Given the description of an element on the screen output the (x, y) to click on. 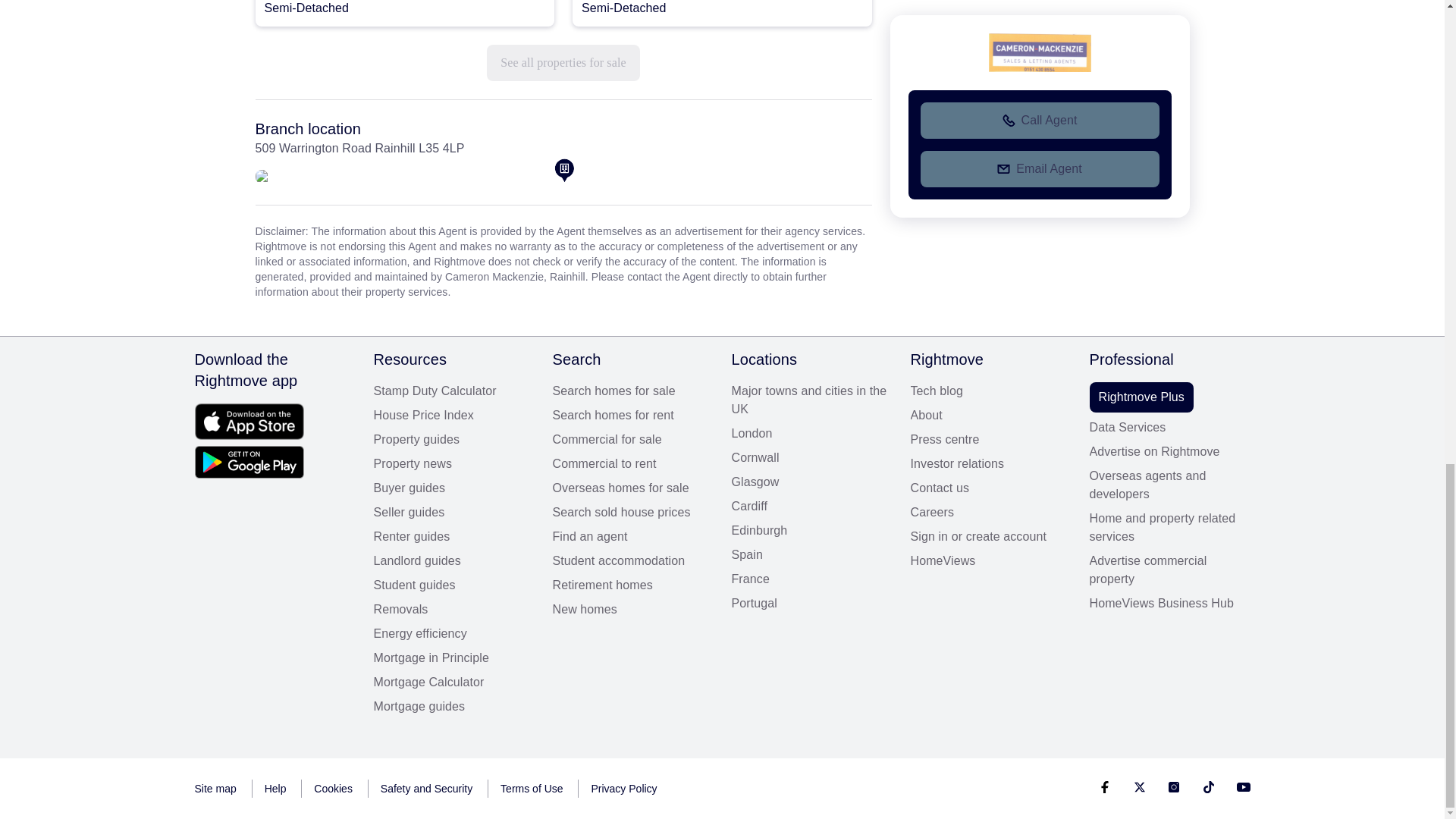
Landlord guides (453, 561)
Property guides (453, 439)
Property news (453, 464)
Stamp duty calculator (453, 391)
Overseas homes for sale (632, 488)
Commercial for sale (632, 439)
Seller guides (453, 512)
Mortgage calculator (453, 682)
Search sold house prices (632, 512)
Renter guides (453, 536)
Commercial to rent (632, 464)
Buyer guides (453, 488)
Mortgage in Principle (453, 658)
Energy efficiency (453, 633)
Student guides (453, 585)
